Given the description of an element on the screen output the (x, y) to click on. 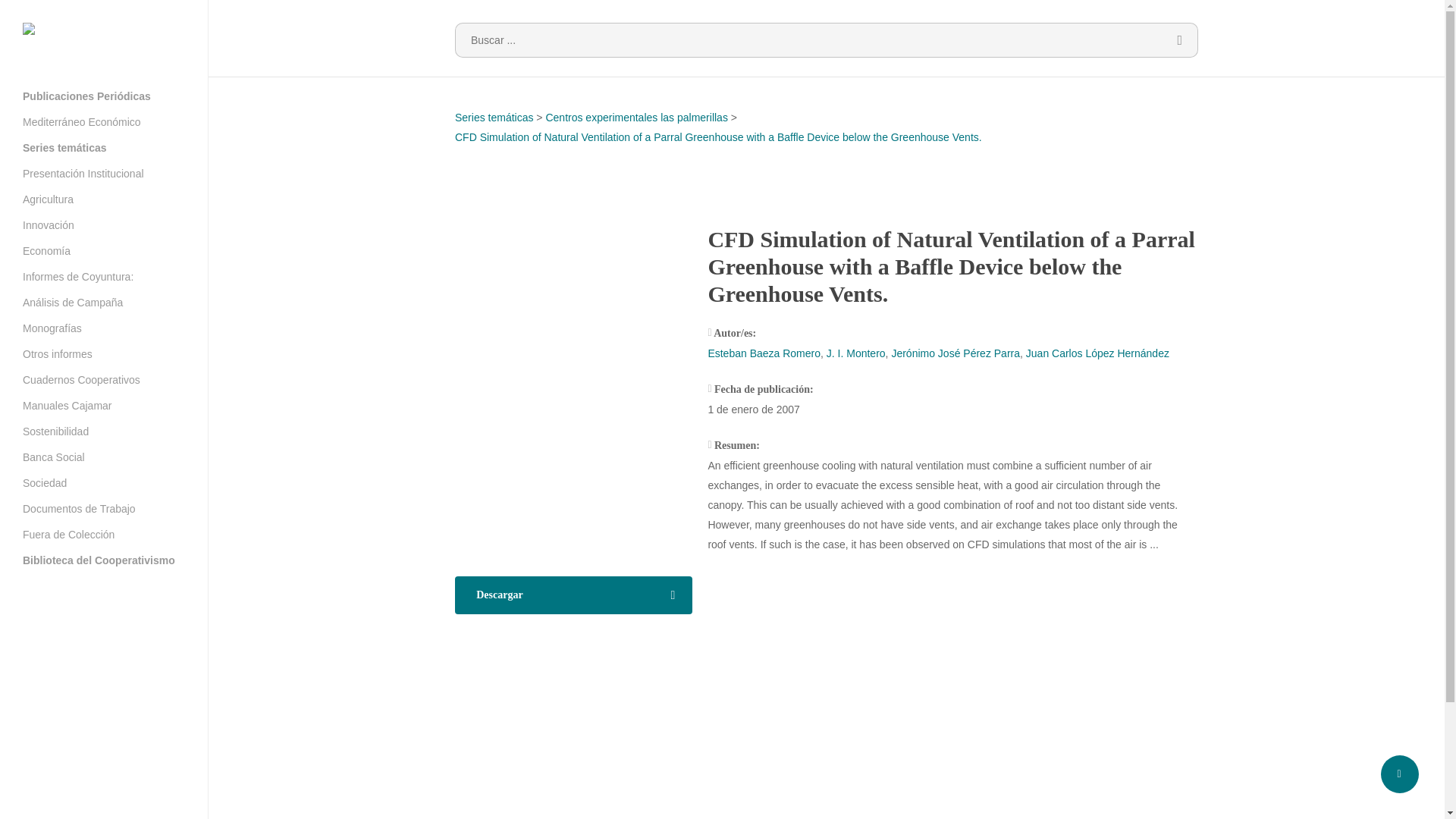
Esteban Baeza Romero (764, 353)
Cuadernos Cooperativos (81, 379)
Documentos de Trabajo (79, 508)
Biblioteca del Cooperativismo (98, 560)
Informes de Coyuntura: (78, 276)
Centros experimentales las palmerillas (635, 117)
Banca Social (53, 457)
Buscar por: (826, 39)
Sostenibilidad (55, 431)
Descargar (573, 595)
Manuales Cajamar (67, 405)
Agricultura (48, 199)
Otros informes (58, 353)
Sociedad (44, 483)
